Given the description of an element on the screen output the (x, y) to click on. 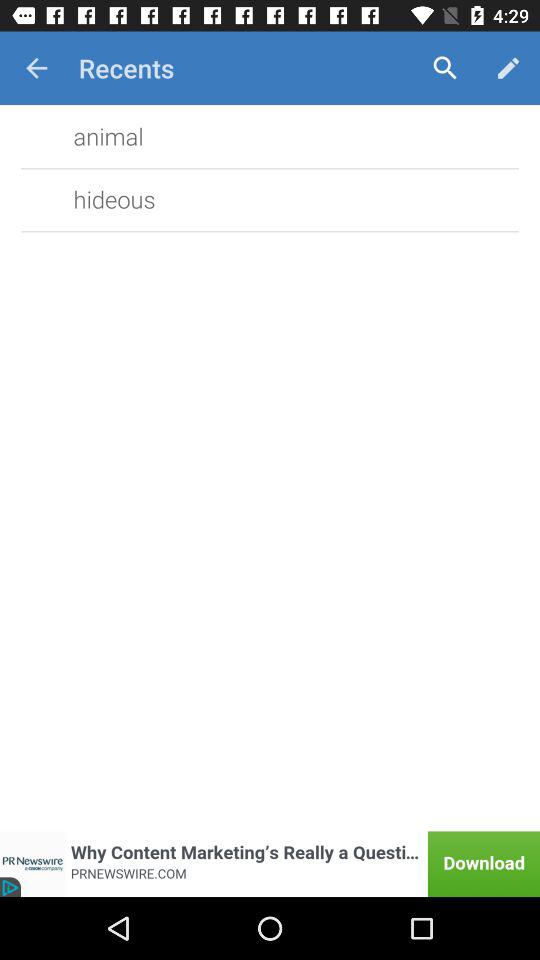
view the content in the advertisement (270, 864)
